Given the description of an element on the screen output the (x, y) to click on. 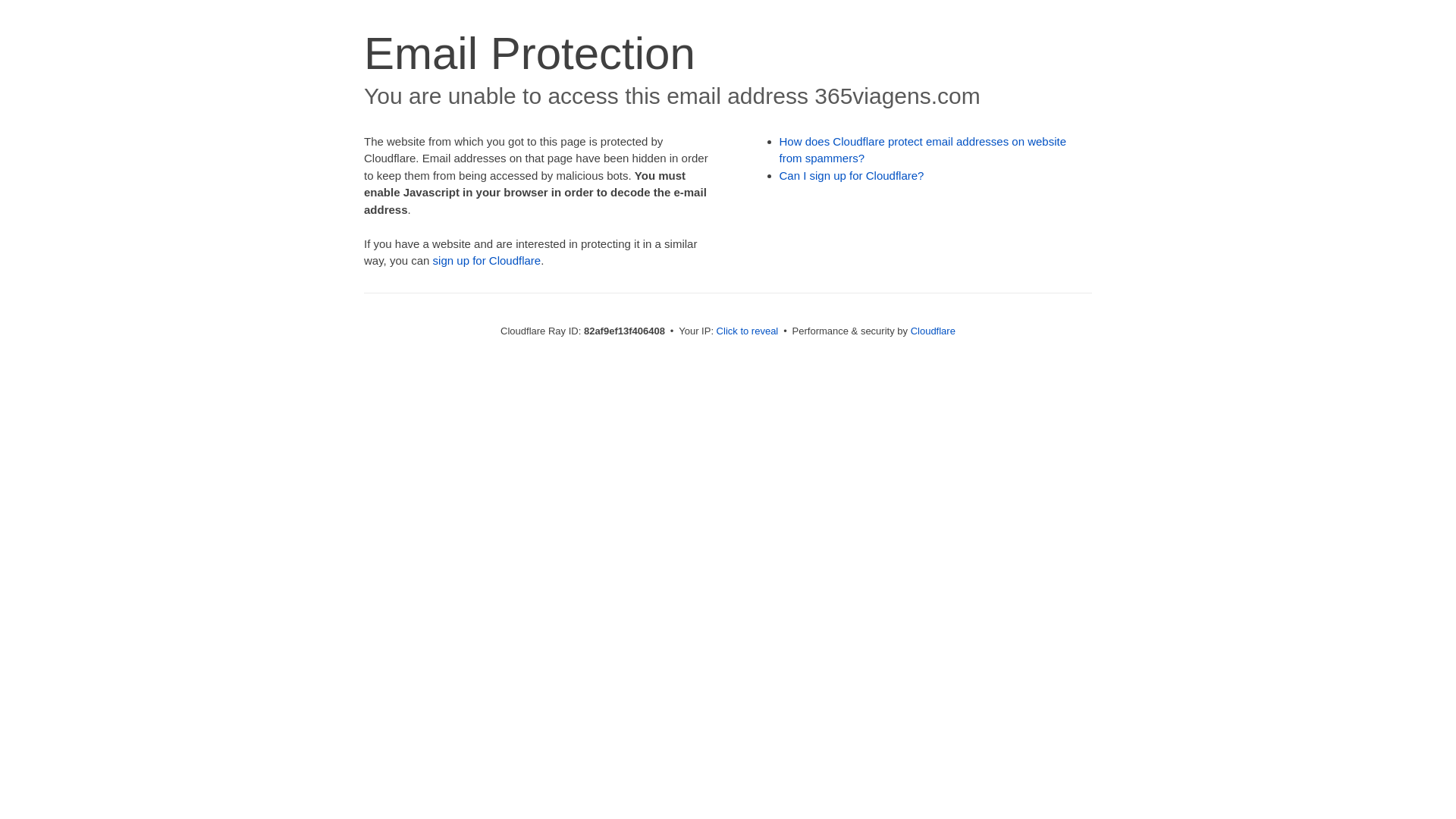
Cloudflare Element type: text (932, 330)
Click to reveal Element type: text (747, 330)
sign up for Cloudflare Element type: text (487, 260)
Can I sign up for Cloudflare? Element type: text (851, 175)
